Given the description of an element on the screen output the (x, y) to click on. 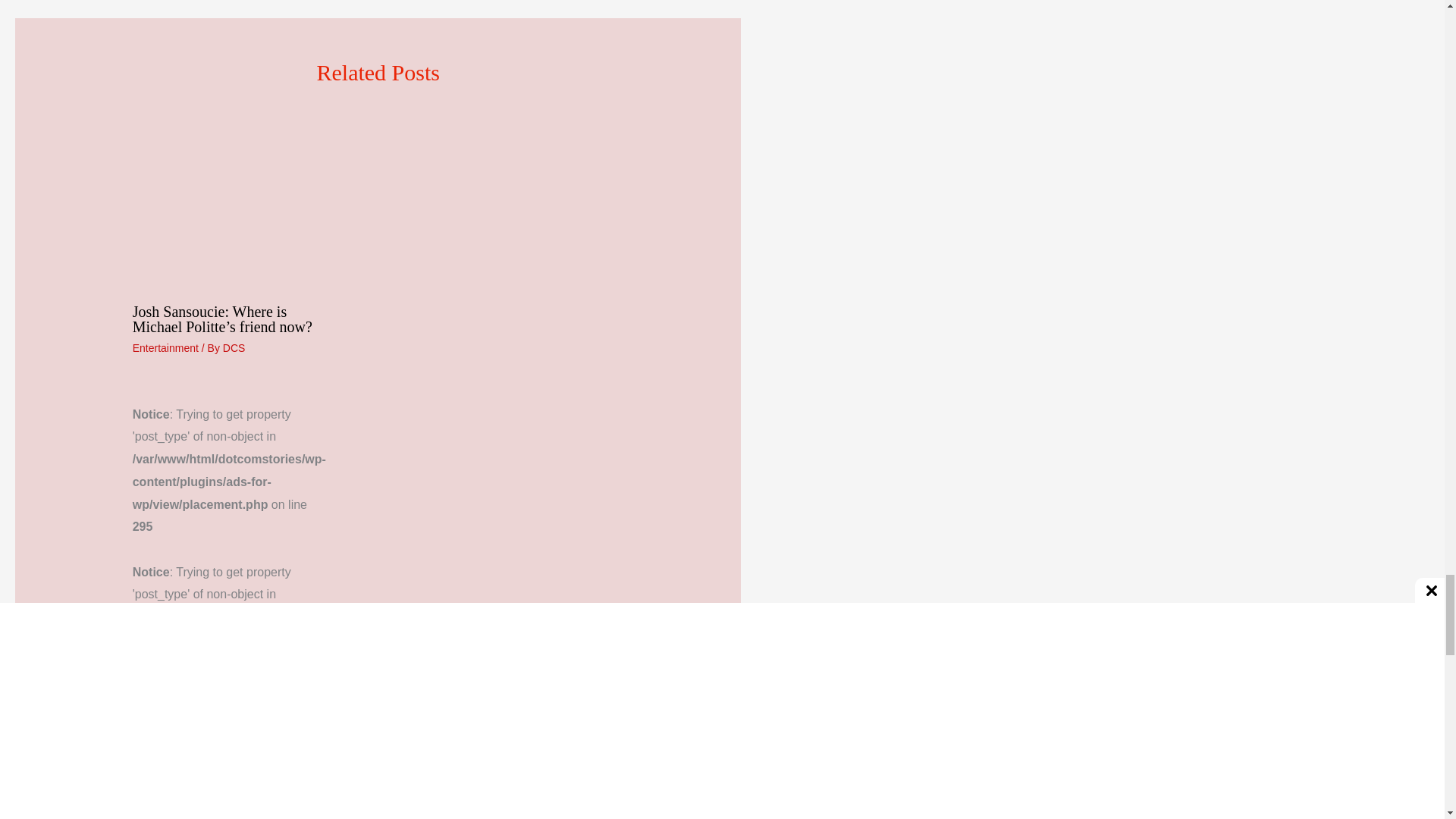
View all posts by DCS (234, 347)
